Given the description of an element on the screen output the (x, y) to click on. 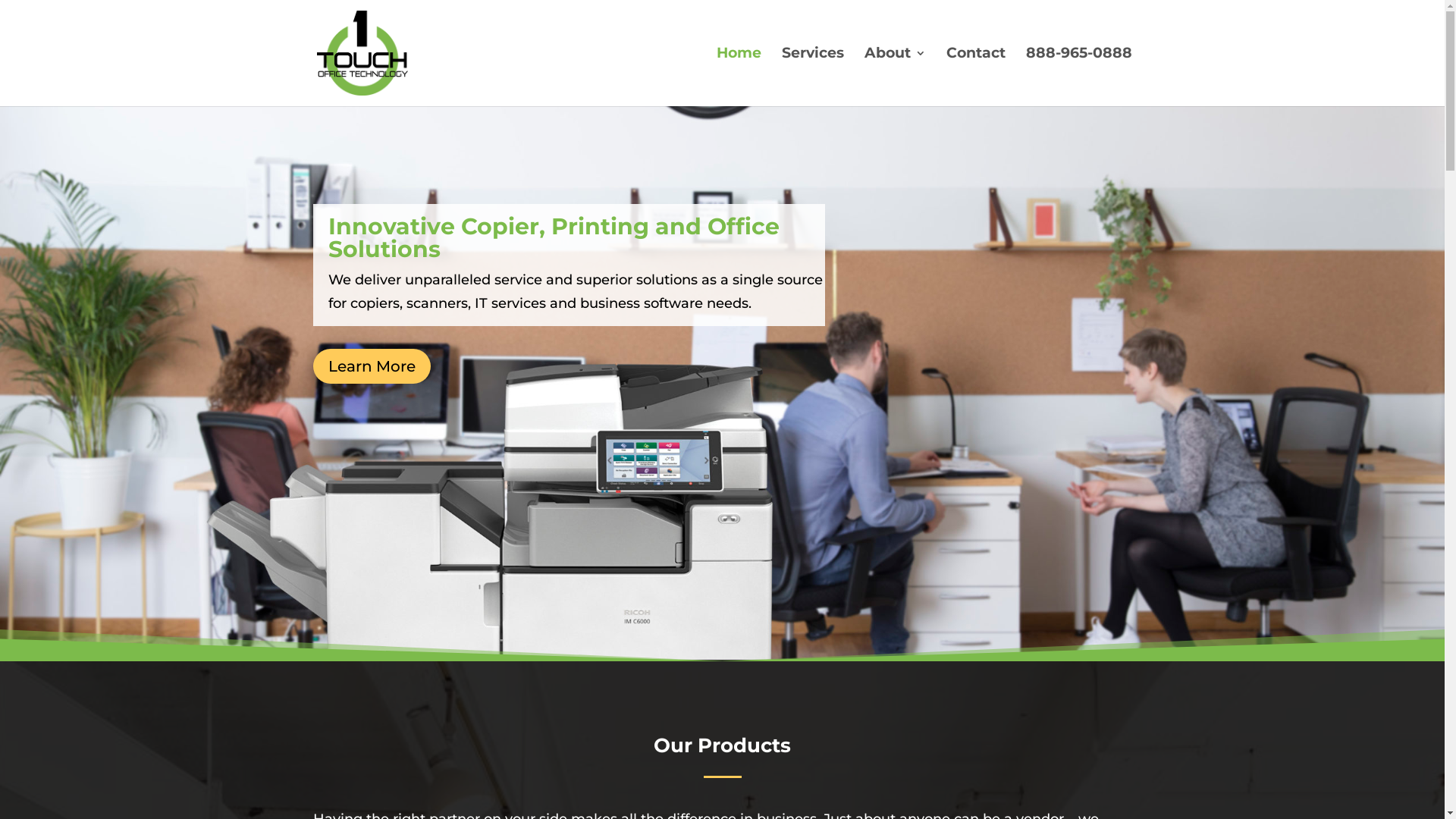
About Element type: text (894, 76)
Contact Element type: text (975, 76)
Services Element type: text (812, 76)
Learn More Element type: text (370, 365)
Home Element type: text (737, 76)
888-965-0888 Element type: text (1078, 76)
